Given the description of an element on the screen output the (x, y) to click on. 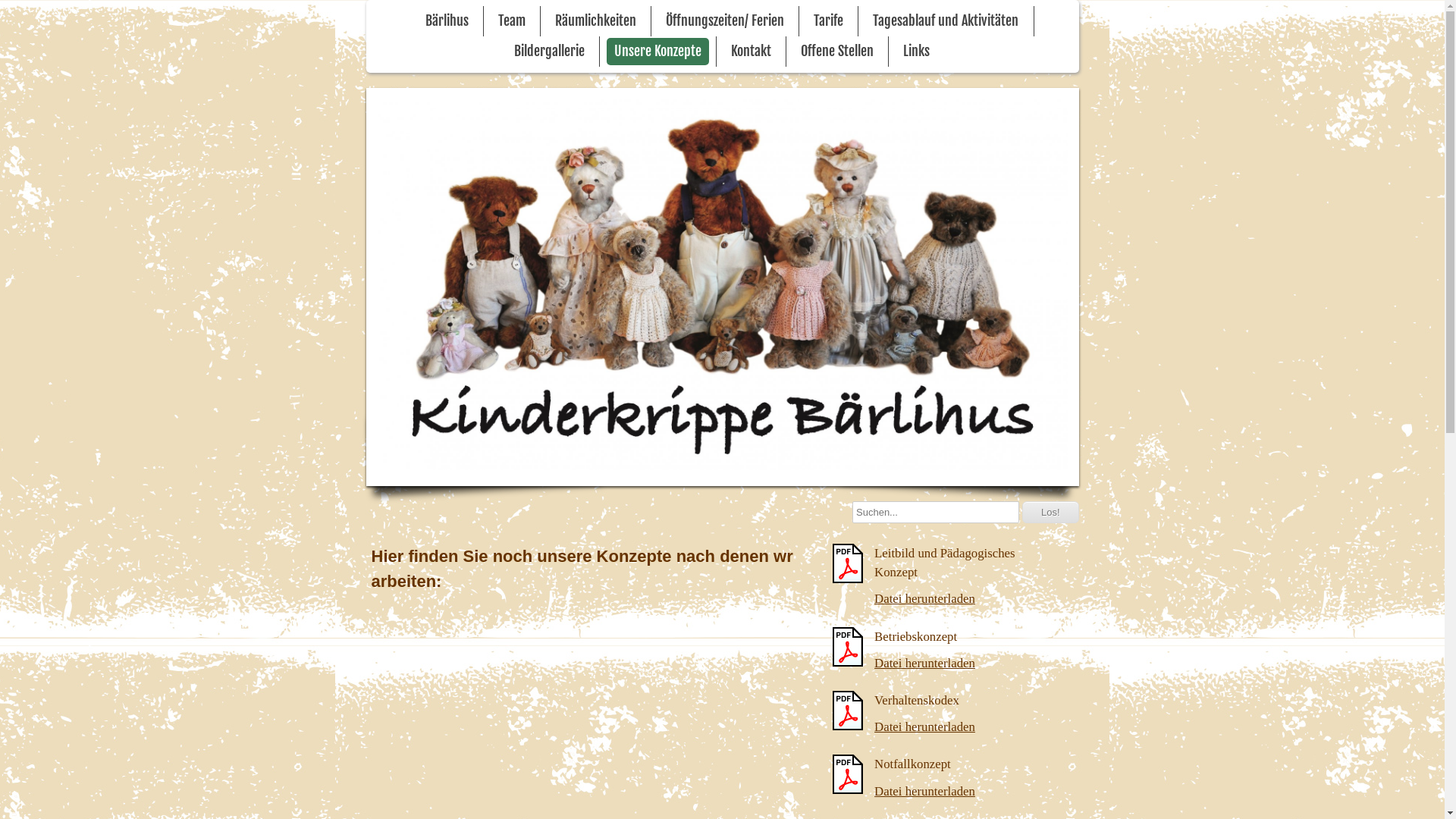
Datei herunterladen Element type: text (924, 598)
Kontakt Element type: text (750, 51)
Links Element type: text (916, 51)
Tarife Element type: text (828, 20)
Datei herunterladen Element type: text (924, 726)
Los! Element type: text (1050, 512)
Offene Stellen Element type: text (837, 51)
Team Element type: text (511, 20)
Datei herunterladen Element type: text (924, 662)
Bildergallerie Element type: text (549, 51)
Datei herunterladen Element type: text (924, 791)
Unsere Konzepte Element type: text (657, 51)
